Given the description of an element on the screen output the (x, y) to click on. 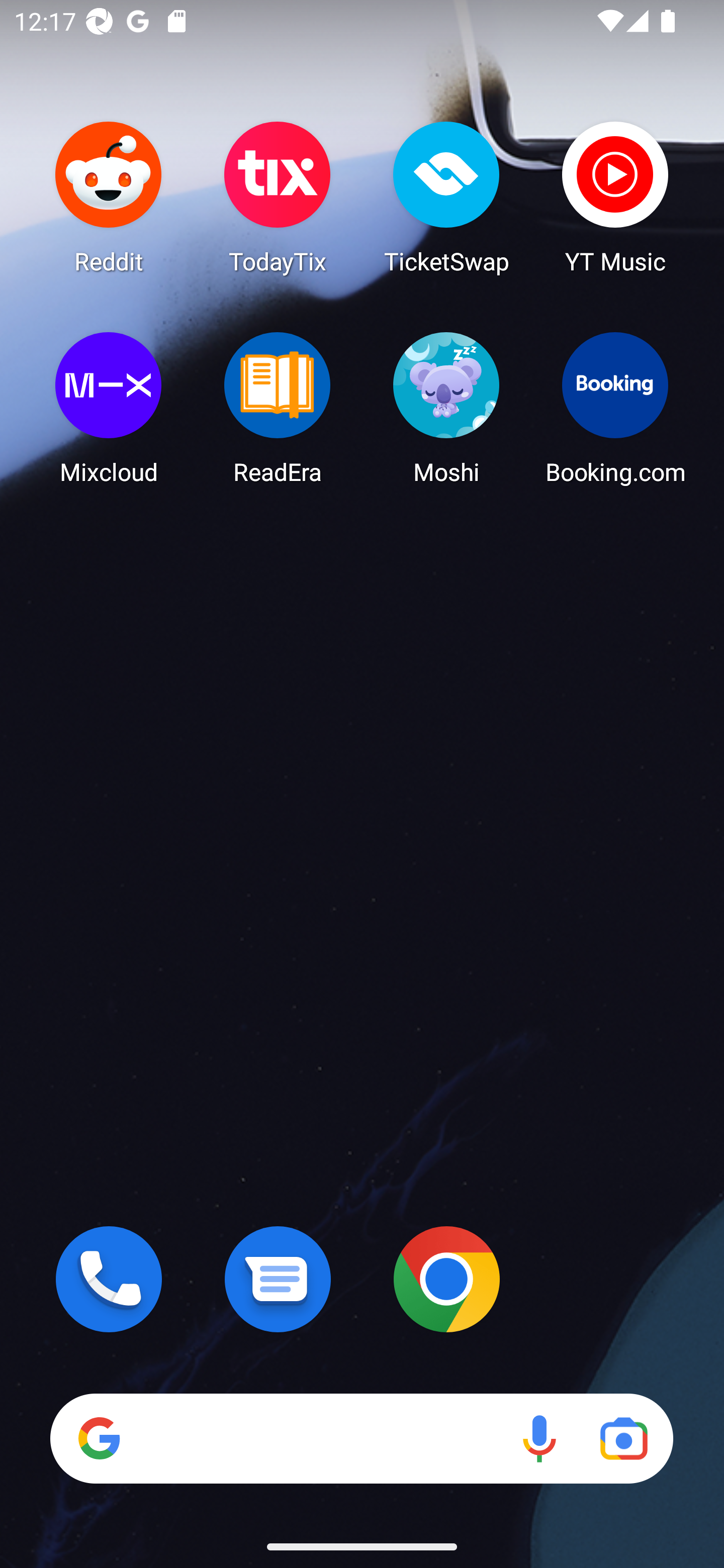
Reddit (108, 196)
TodayTix (277, 196)
TicketSwap (445, 196)
YT Music (615, 196)
Mixcloud (108, 407)
ReadEra (277, 407)
Moshi (445, 407)
Booking.com (615, 407)
Phone (108, 1279)
Messages (277, 1279)
Chrome (446, 1279)
Search Voice search Google Lens (361, 1438)
Voice search (539, 1438)
Google Lens (623, 1438)
